Given the description of an element on the screen output the (x, y) to click on. 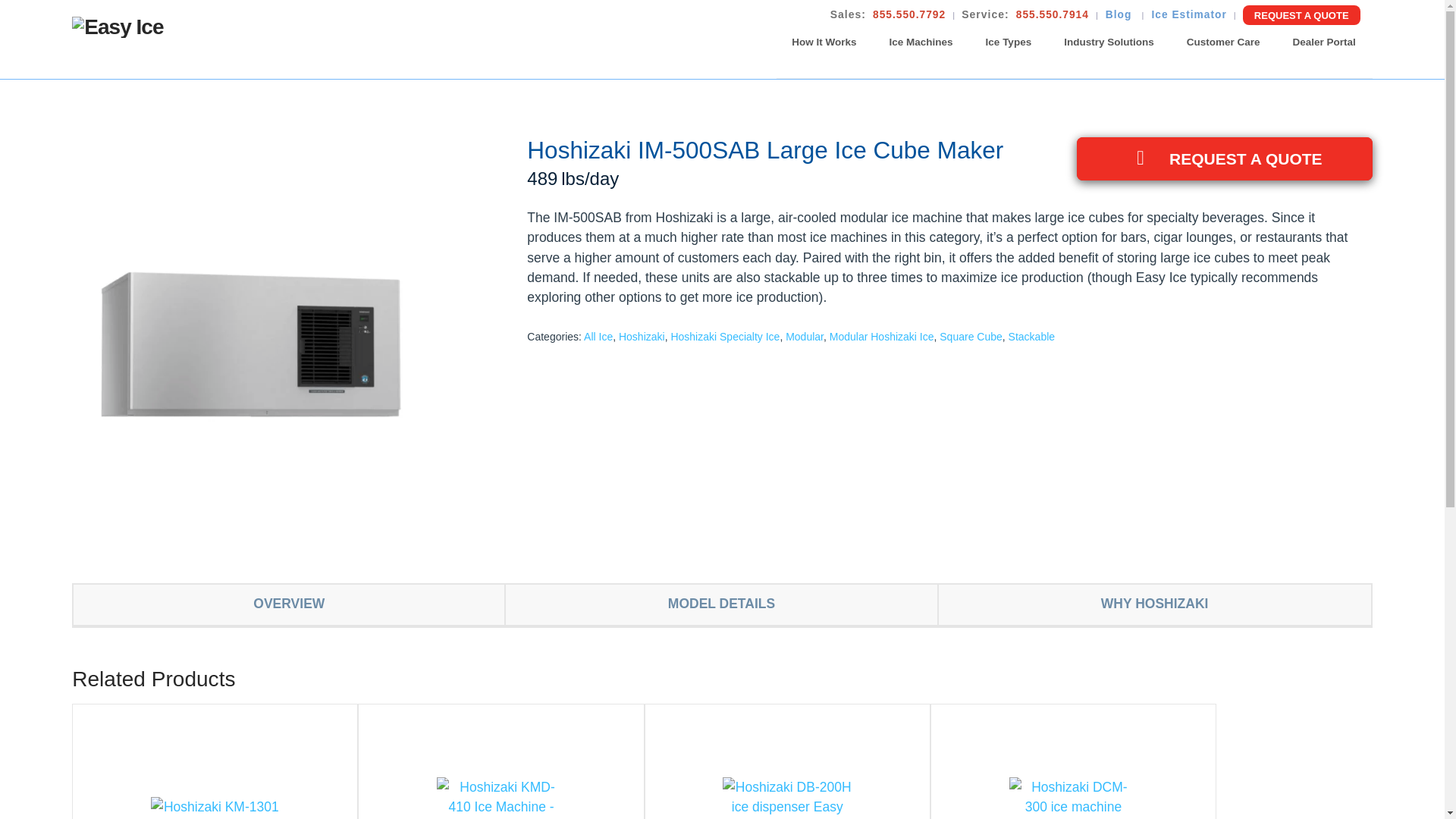
855.550.7792 (909, 14)
Blog (1120, 14)
How It Works (824, 42)
855.550.7914 (1052, 14)
Ice Types (1008, 42)
Ice Machines (921, 42)
Call Our Sales Team  (909, 14)
Call Our Service Team  (1052, 14)
Industry Solutions (1109, 42)
Ice Estimator (1188, 14)
